Given the description of an element on the screen output the (x, y) to click on. 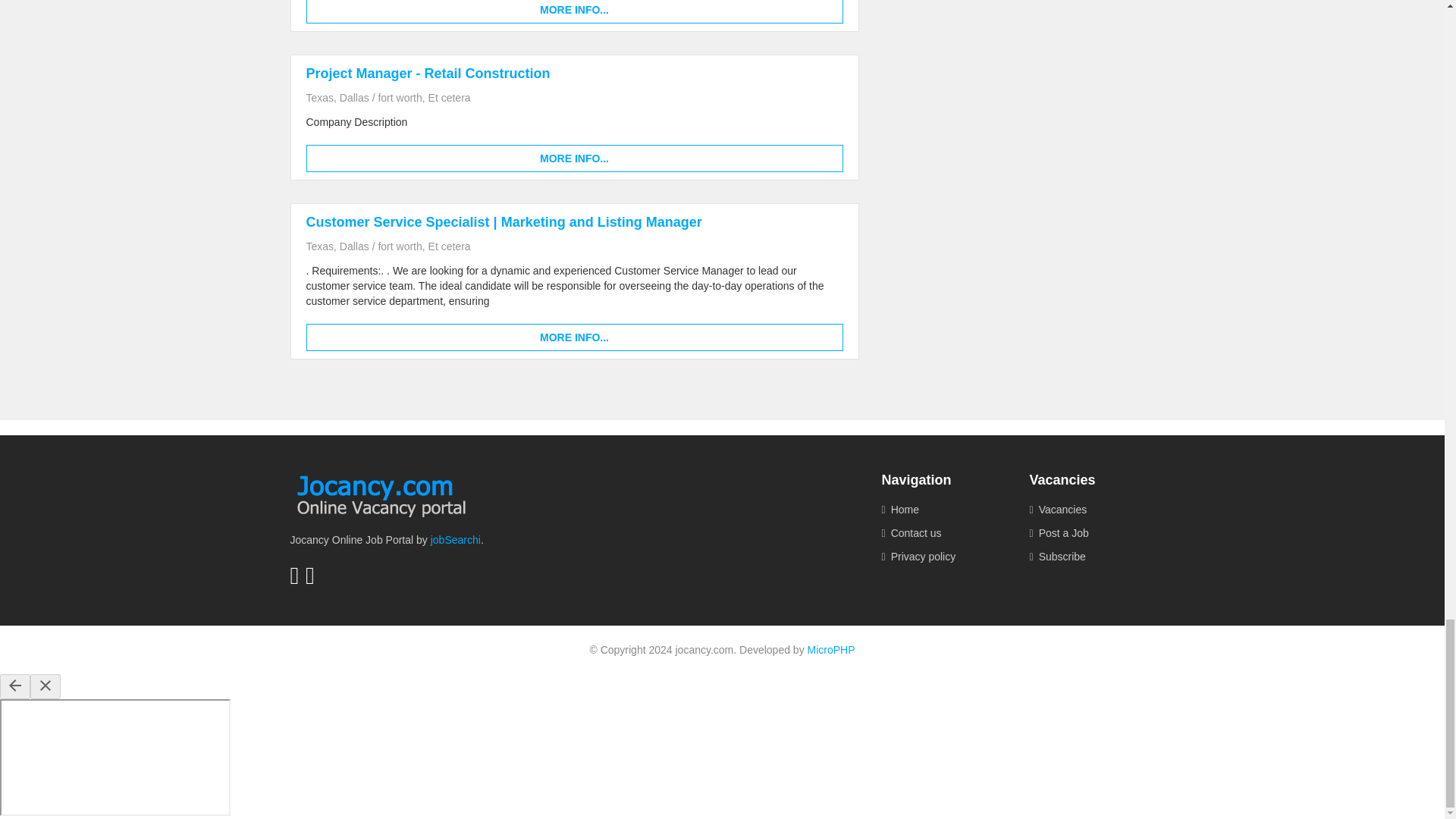
Project Manager - Retail Construction (427, 73)
Texas (319, 97)
Et cetera (449, 97)
MORE INFO... (574, 11)
